Given the description of an element on the screen output the (x, y) to click on. 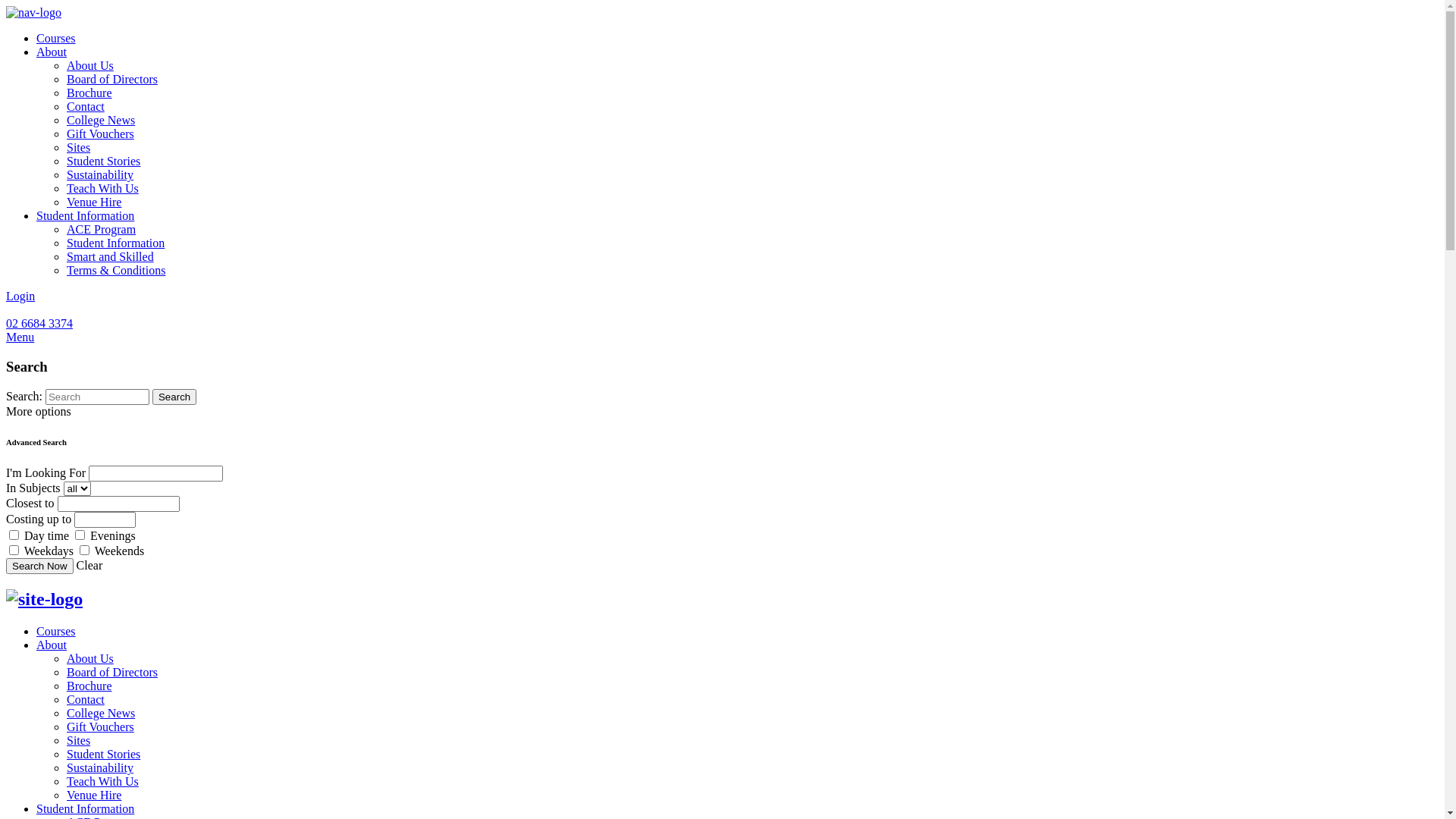
Contact Element type: text (85, 699)
Venue Hire Element type: text (93, 201)
Courses Element type: text (55, 630)
Venue Hire Element type: text (93, 794)
Student Information Element type: text (85, 215)
College News Element type: text (100, 119)
More options Element type: text (38, 410)
Gift Vouchers Element type: text (100, 133)
Student Stories Element type: text (103, 753)
Contact Element type: text (85, 106)
Brochure Element type: text (89, 685)
About Us Element type: text (89, 65)
Student Stories Element type: text (103, 160)
Teach With Us Element type: text (102, 188)
Menu Element type: text (722, 337)
About Element type: text (51, 51)
Login Element type: text (20, 295)
Sites Element type: text (78, 740)
Sustainability Element type: text (99, 767)
Student Information Element type: text (115, 242)
Sites Element type: text (78, 147)
Board of Directors Element type: text (111, 671)
Search Now Element type: text (39, 566)
Clear Element type: text (89, 564)
Terms & Conditions Element type: text (115, 269)
College News Element type: text (100, 712)
Brochure Element type: text (89, 92)
Smart and Skilled Element type: text (109, 256)
Gift Vouchers Element type: text (100, 726)
Courses Element type: text (55, 37)
ACE Program Element type: text (100, 228)
Student Information Element type: text (85, 808)
About Us Element type: text (89, 658)
Sustainability Element type: text (99, 174)
Board of Directors Element type: text (111, 78)
02 6684 3374 Element type: text (39, 322)
Search Element type: text (174, 396)
About Element type: text (51, 644)
Teach With Us Element type: text (102, 781)
